Given the description of an element on the screen output the (x, y) to click on. 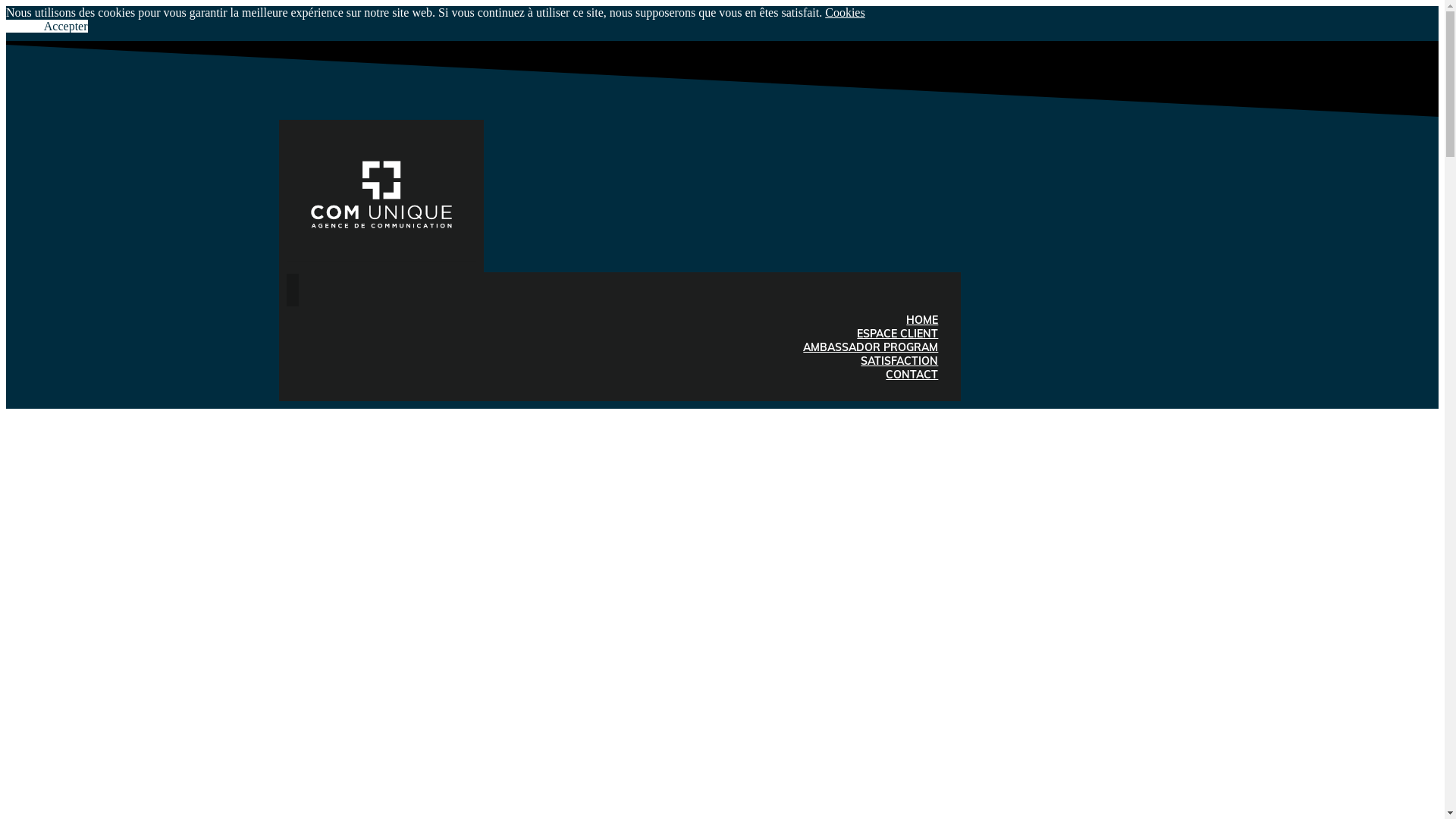
CONTACT Element type: text (911, 374)
SATISFACTION Element type: text (899, 360)
Cookies Element type: text (844, 12)
Accepter Element type: text (65, 25)
logoblanc Element type: hover (381, 194)
HOME Element type: text (922, 319)
AMBASSADOR PROGRAM Element type: text (870, 346)
ESPACE CLIENT Element type: text (897, 333)
Refuser Element type: text (24, 25)
